Given the description of an element on the screen output the (x, y) to click on. 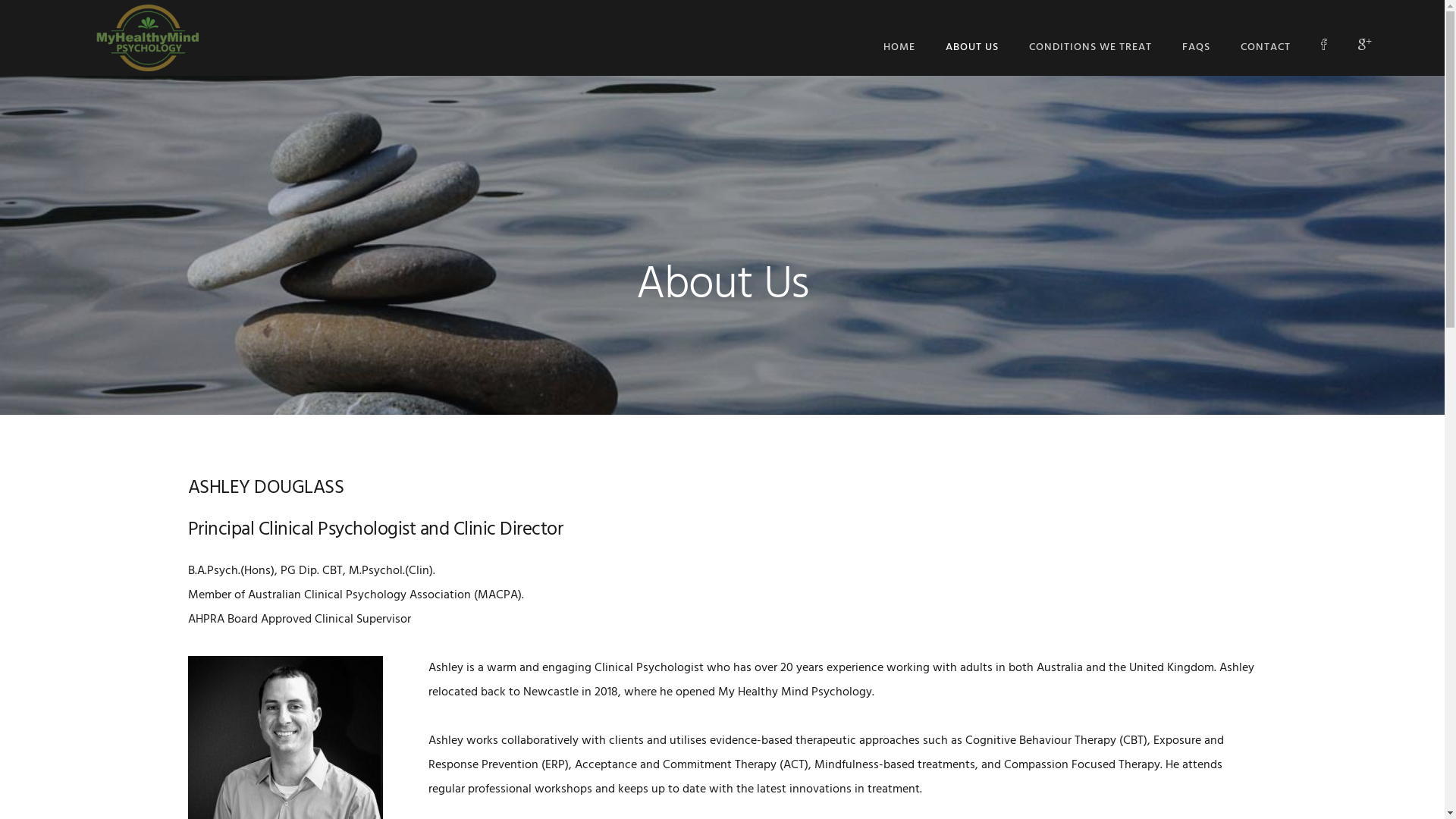
ABOUT US Element type: text (971, 47)
HOME Element type: text (899, 47)
My Healthy Mind Psychology Element type: text (147, 37)
Skip to primary navigation Element type: text (0, 0)
CONDITIONS WE TREAT Element type: text (1090, 47)
CONTACT Element type: text (1265, 47)
FAQS Element type: text (1196, 47)
